Given the description of an element on the screen output the (x, y) to click on. 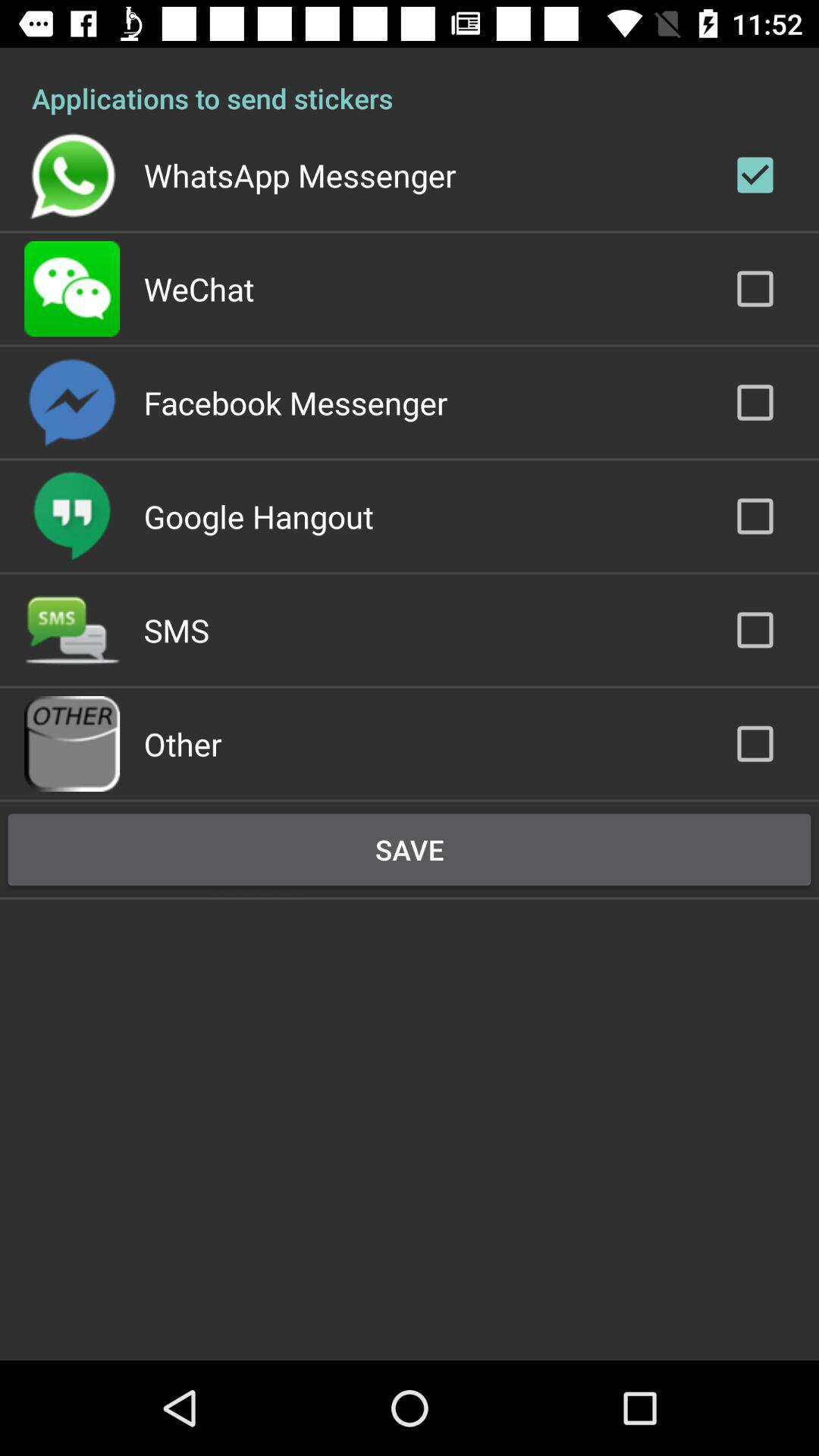
open the icon above google hangout item (295, 402)
